Given the description of an element on the screen output the (x, y) to click on. 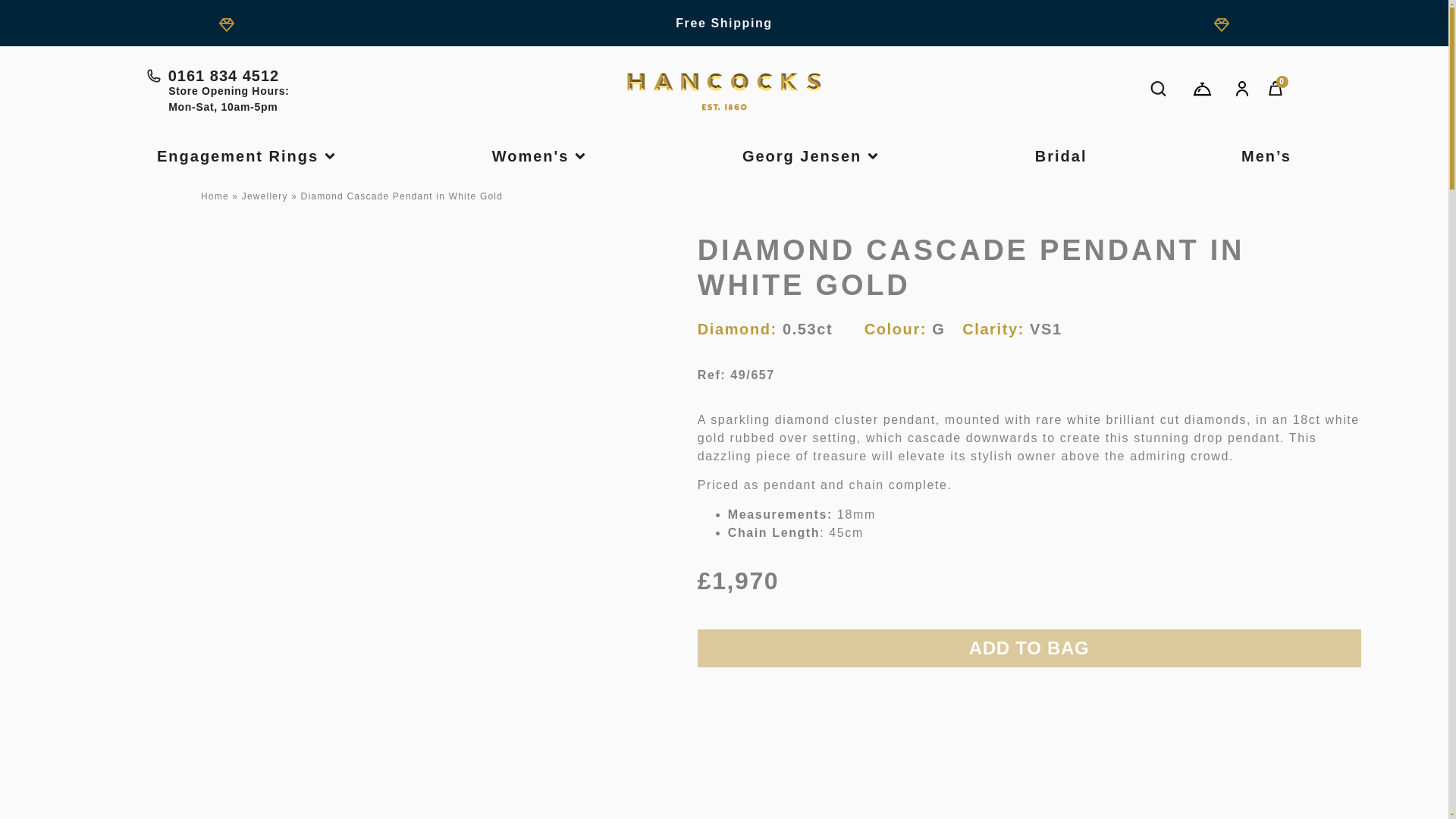
0 (1275, 89)
0161 834 4512 (339, 75)
Engagement Rings (237, 156)
